Given the description of an element on the screen output the (x, y) to click on. 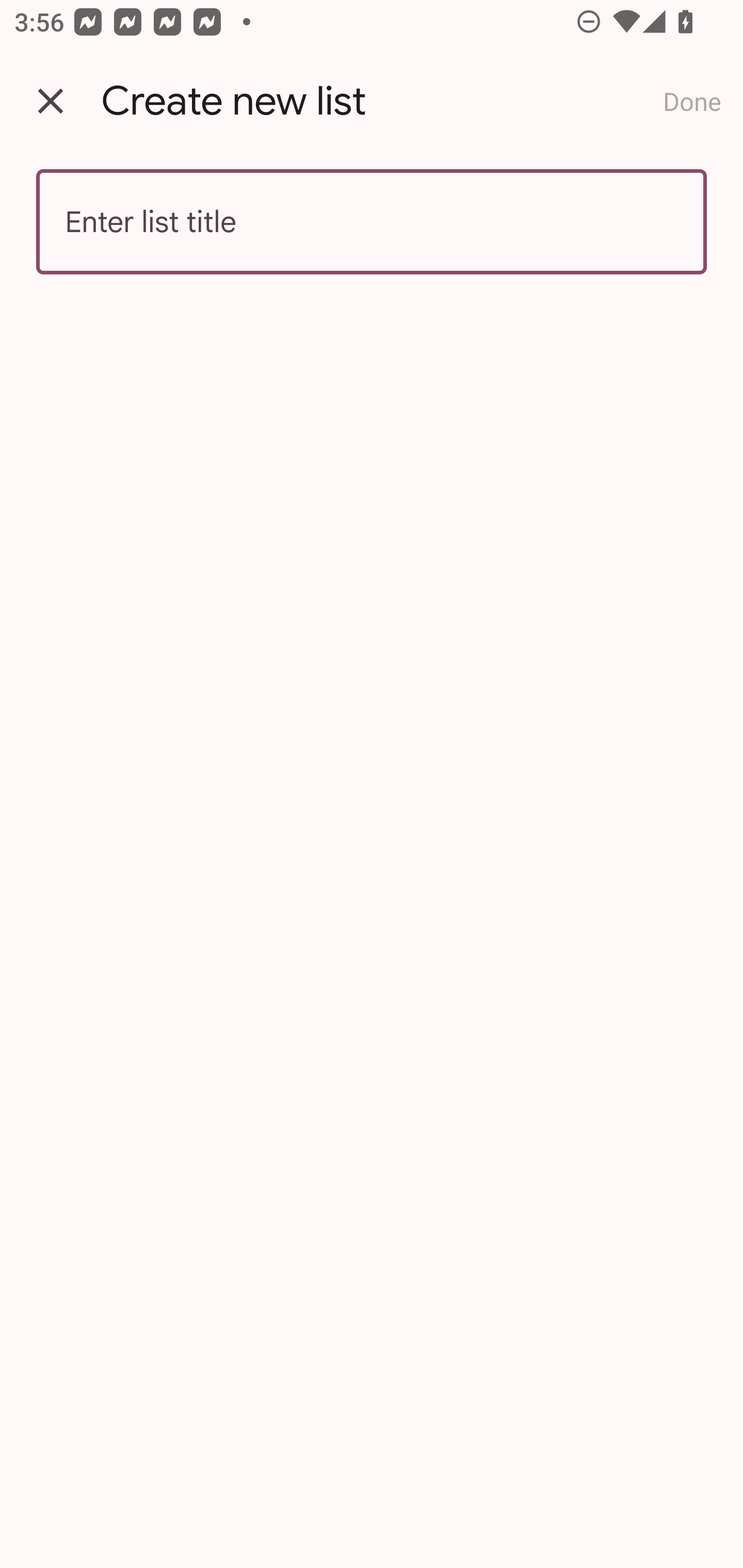
Back (50, 101)
Done (692, 101)
Enter list title (371, 221)
